Given the description of an element on the screen output the (x, y) to click on. 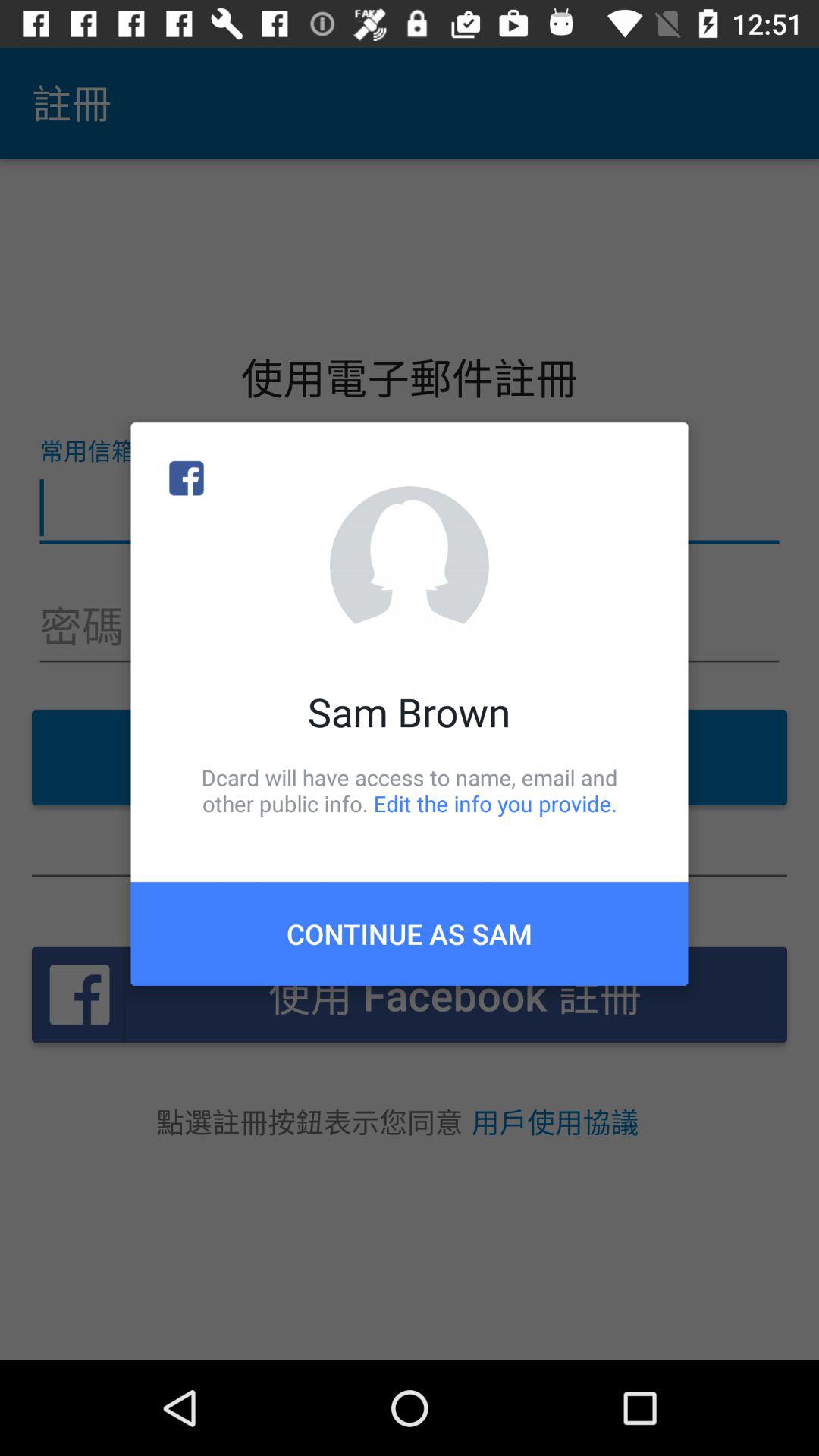
scroll until continue as sam icon (409, 933)
